Given the description of an element on the screen output the (x, y) to click on. 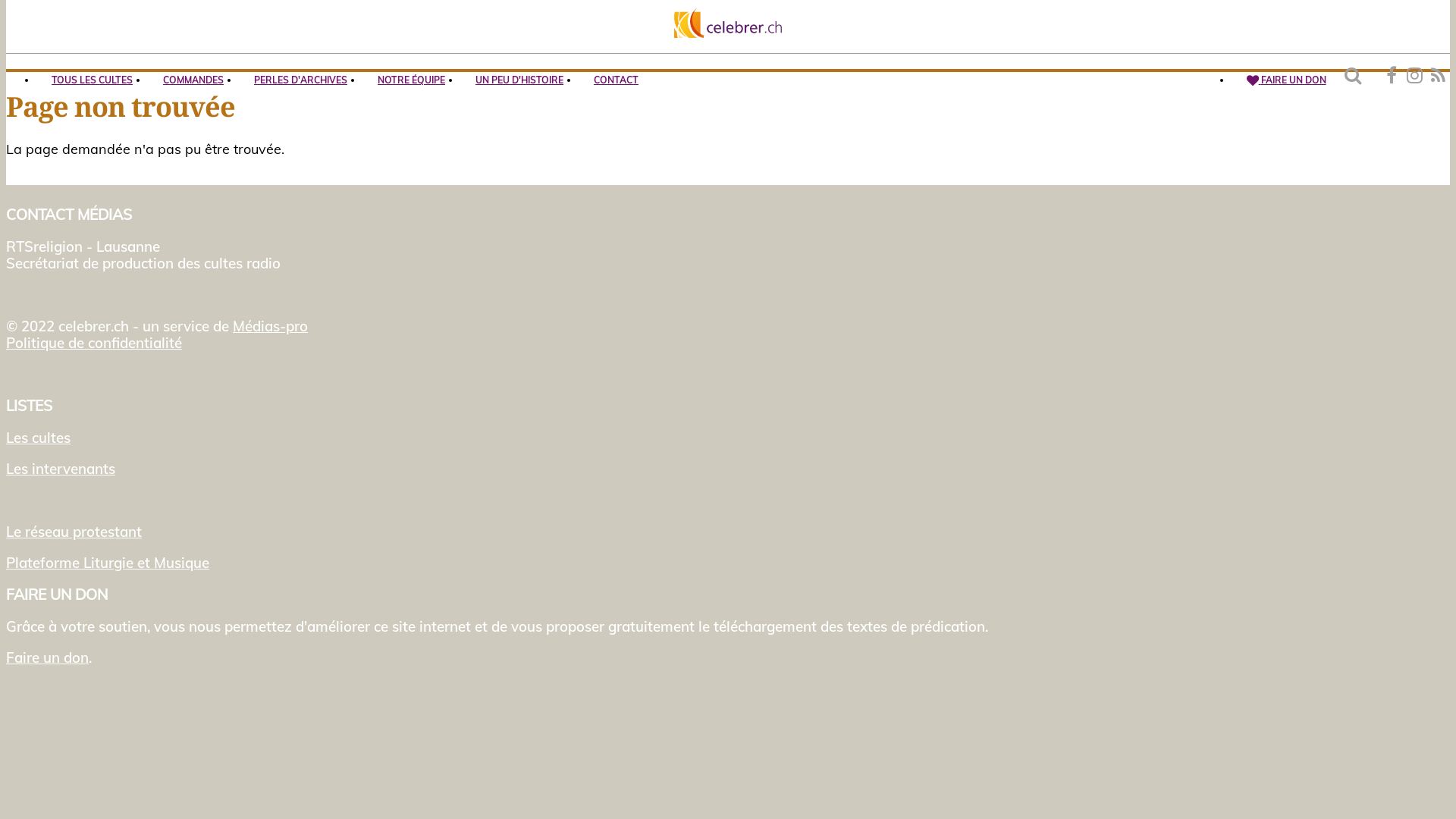
Aller au contenu principal Element type: text (6, 0)
Les cultes Element type: text (38, 437)
Faire un don Element type: text (47, 657)
UN PEU D'HISTOIRE Element type: text (519, 79)
COMMANDES Element type: text (193, 79)
PERLES D'ARCHIVES Element type: text (300, 79)
Les intervenants Element type: text (60, 468)
CONTACT Element type: text (615, 79)
TOUS LES CULTES Element type: text (91, 79)
FAIRE UN DON Element type: text (1286, 79)
Plateforme Liturgie et Musique Element type: text (107, 562)
Accueil Element type: hover (727, 22)
